Given the description of an element on the screen output the (x, y) to click on. 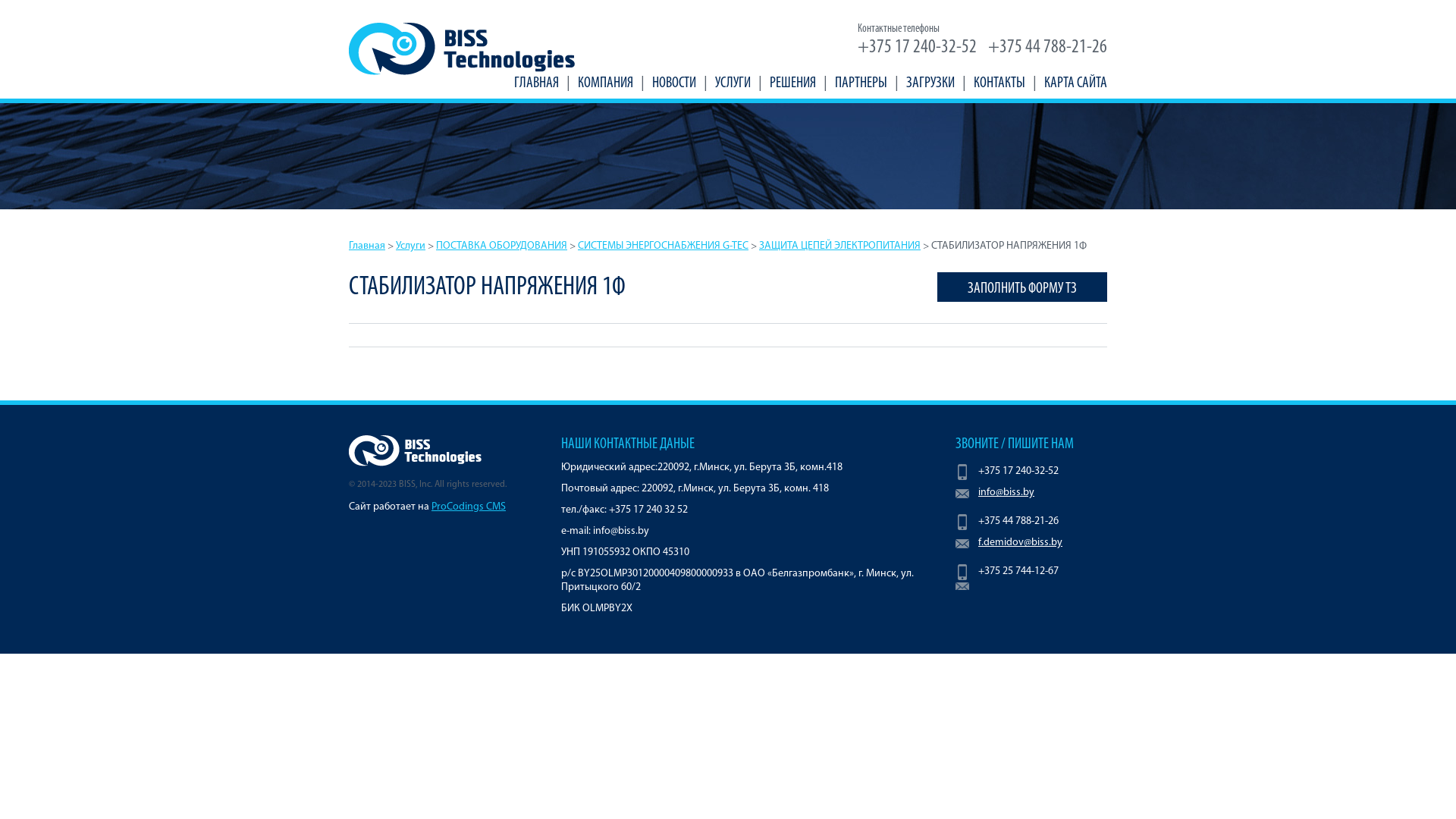
info@biss.by Element type: text (1031, 492)
f.demidov@biss.by Element type: text (1031, 542)
ProCodings CMS Element type: text (468, 506)
